Given the description of an element on the screen output the (x, y) to click on. 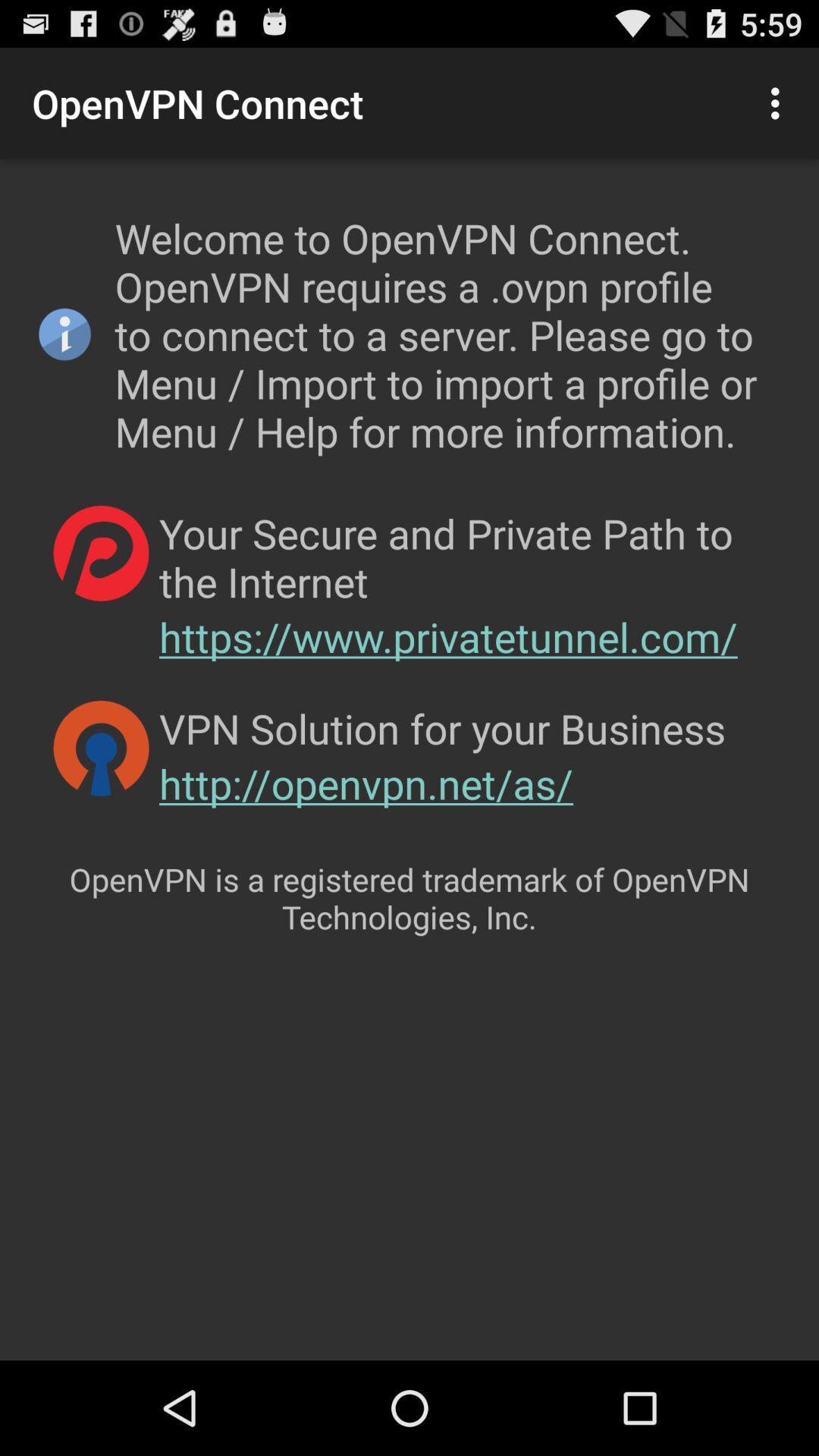
turn off the app above welcome to openvpn icon (779, 103)
